Given the description of an element on the screen output the (x, y) to click on. 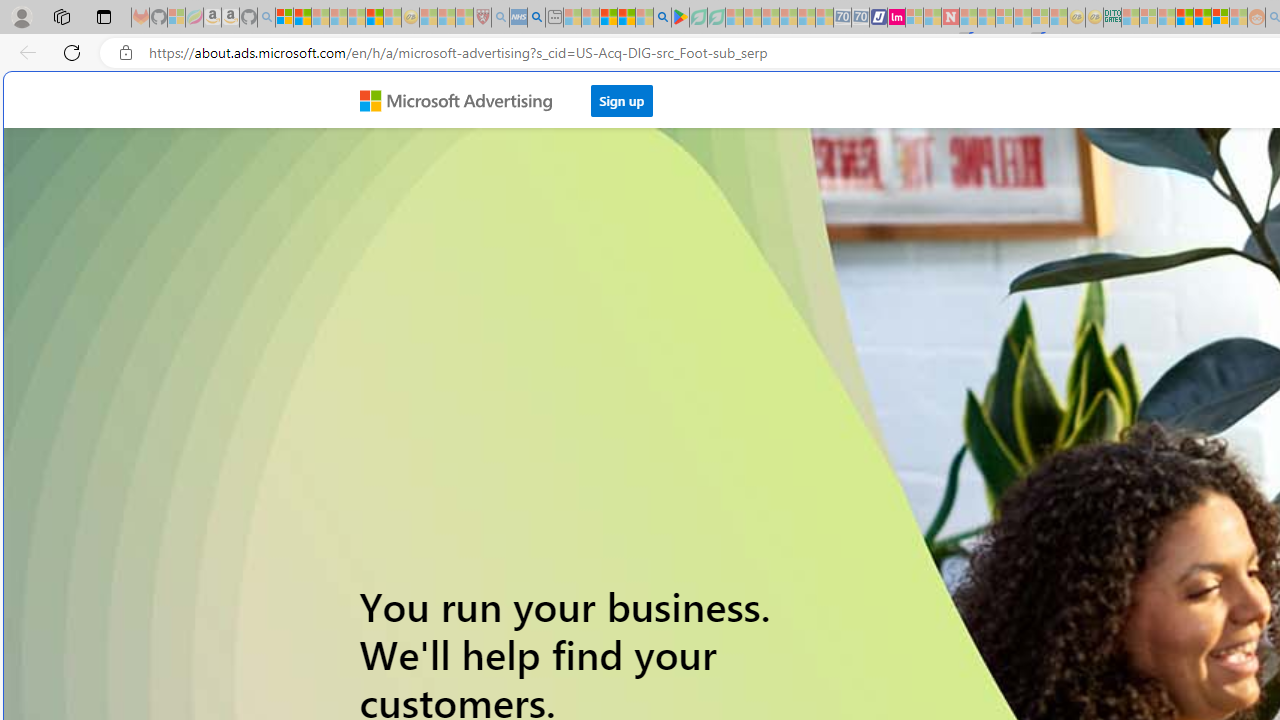
Jobs - lastminute.com Investor Portal (896, 17)
